Given the description of an element on the screen output the (x, y) to click on. 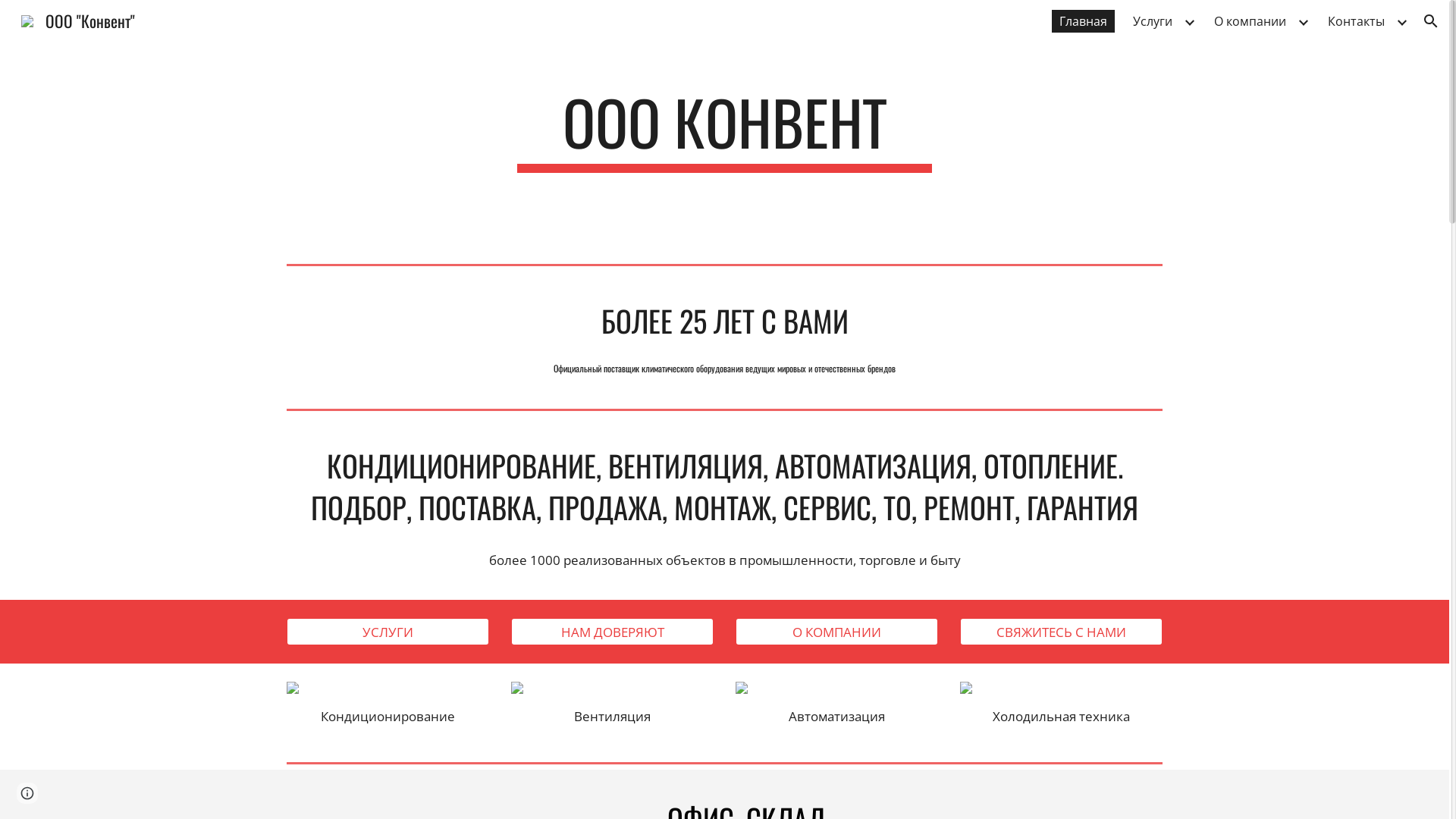
Expand/Collapse Element type: hover (1302, 20)
Expand/Collapse Element type: hover (1401, 20)
Expand/Collapse Element type: hover (1188, 20)
